Given the description of an element on the screen output the (x, y) to click on. 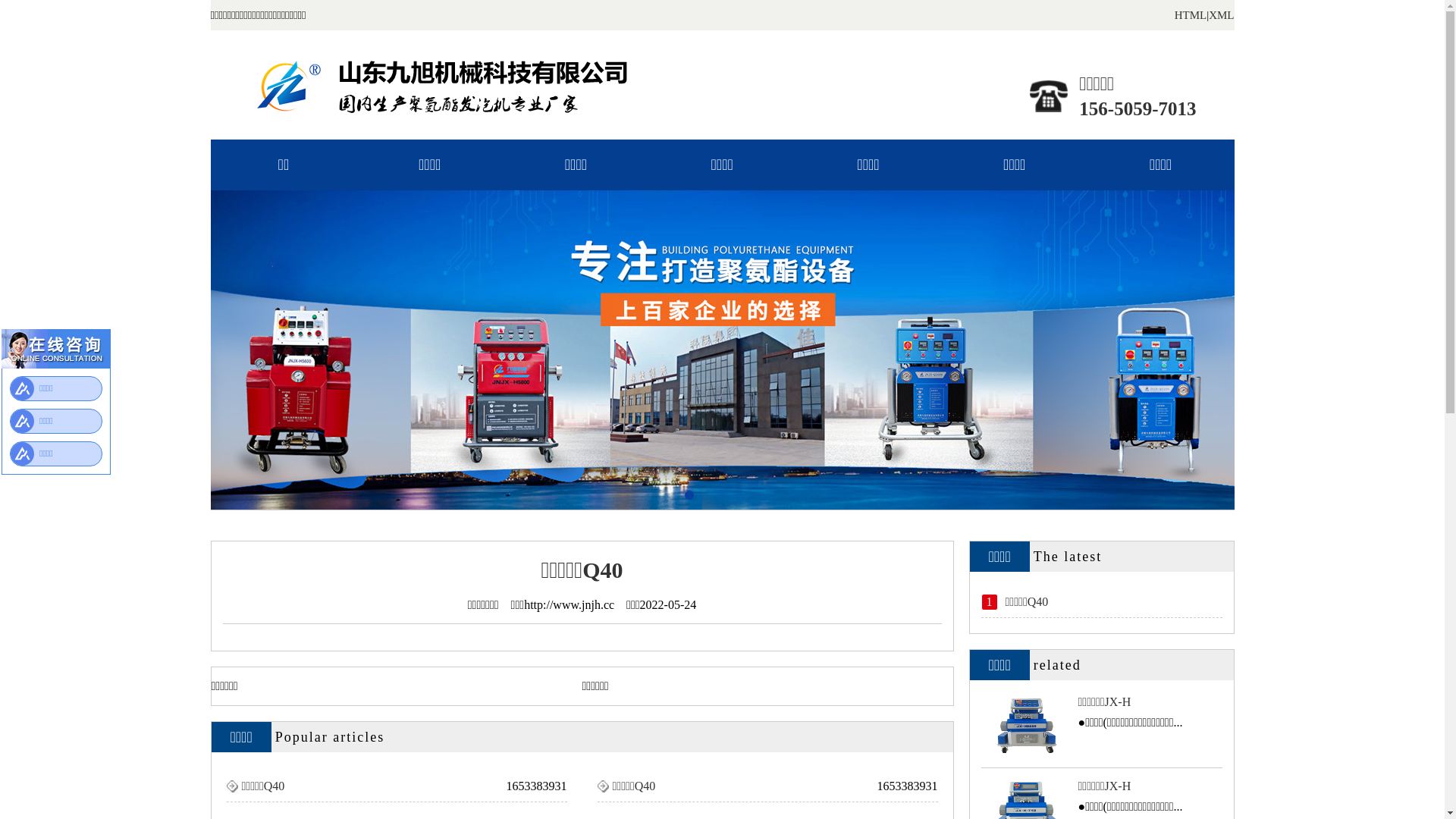
XML Element type: text (1220, 15)
HTML Element type: text (1190, 15)
